Given the description of an element on the screen output the (x, y) to click on. 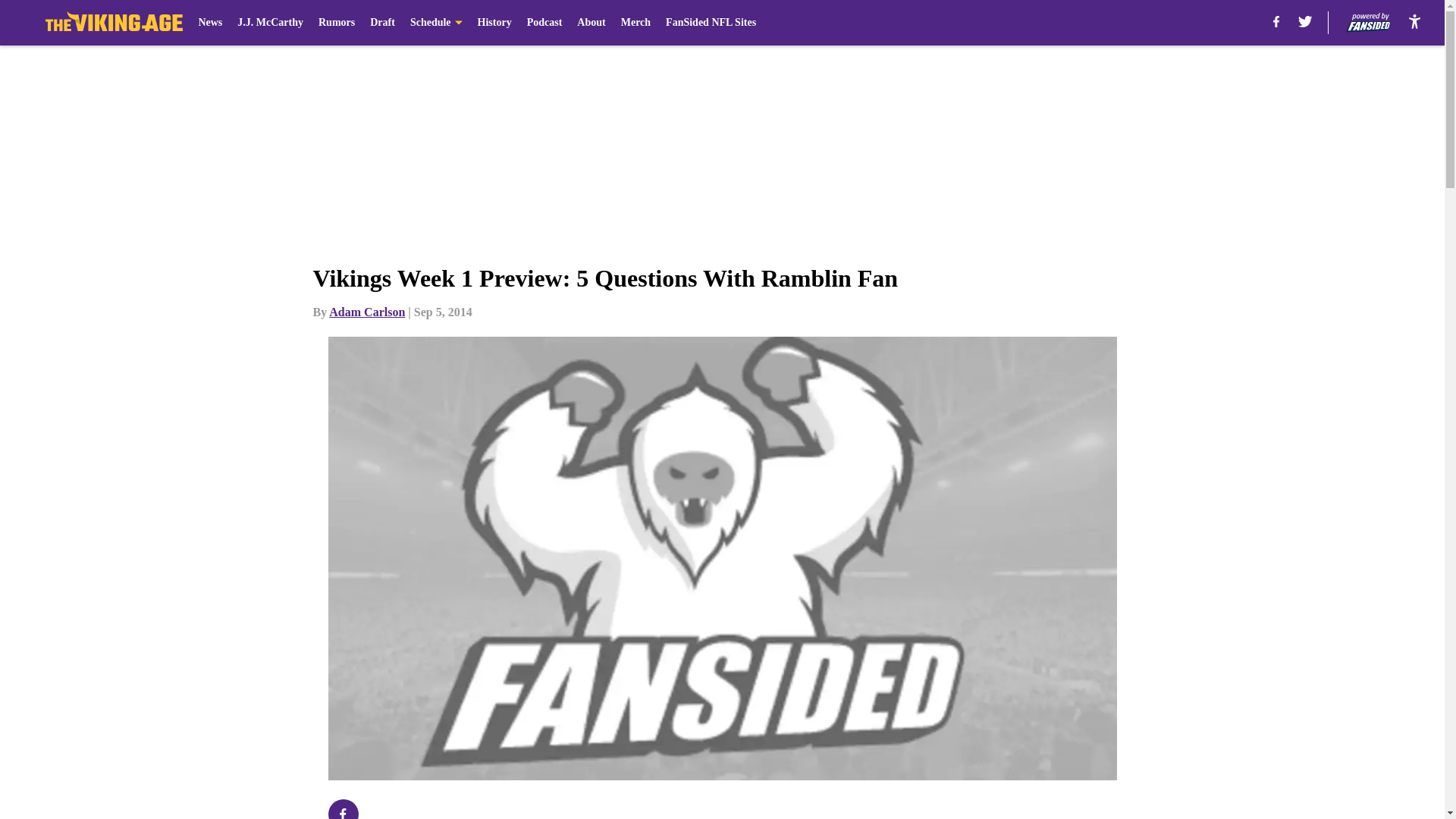
History (494, 22)
J.J. McCarthy (269, 22)
Podcast (544, 22)
About (590, 22)
FanSided NFL Sites (710, 22)
Rumors (336, 22)
Draft (381, 22)
Adam Carlson (366, 311)
News (210, 22)
Merch (635, 22)
